Given the description of an element on the screen output the (x, y) to click on. 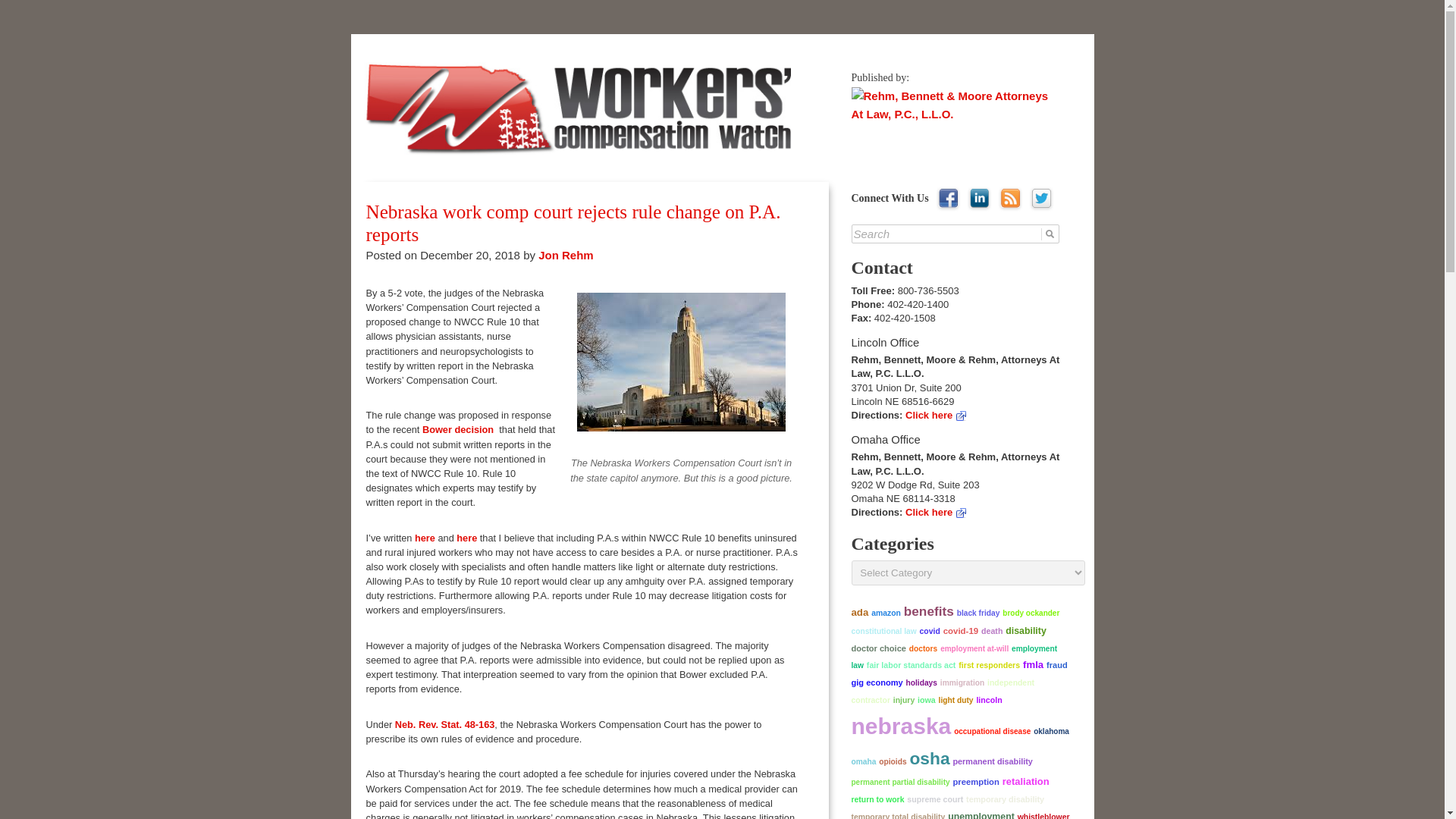
View all posts by Jon Rehm (566, 254)
Workers' Compensation Watch (523, 62)
Bower decision (459, 429)
here (467, 537)
Workers' Compensation Watch (523, 62)
here (426, 537)
Jon Rehm (566, 254)
Neb. Rev. Stat. 48-163 (443, 724)
Search (955, 233)
